Given the description of an element on the screen output the (x, y) to click on. 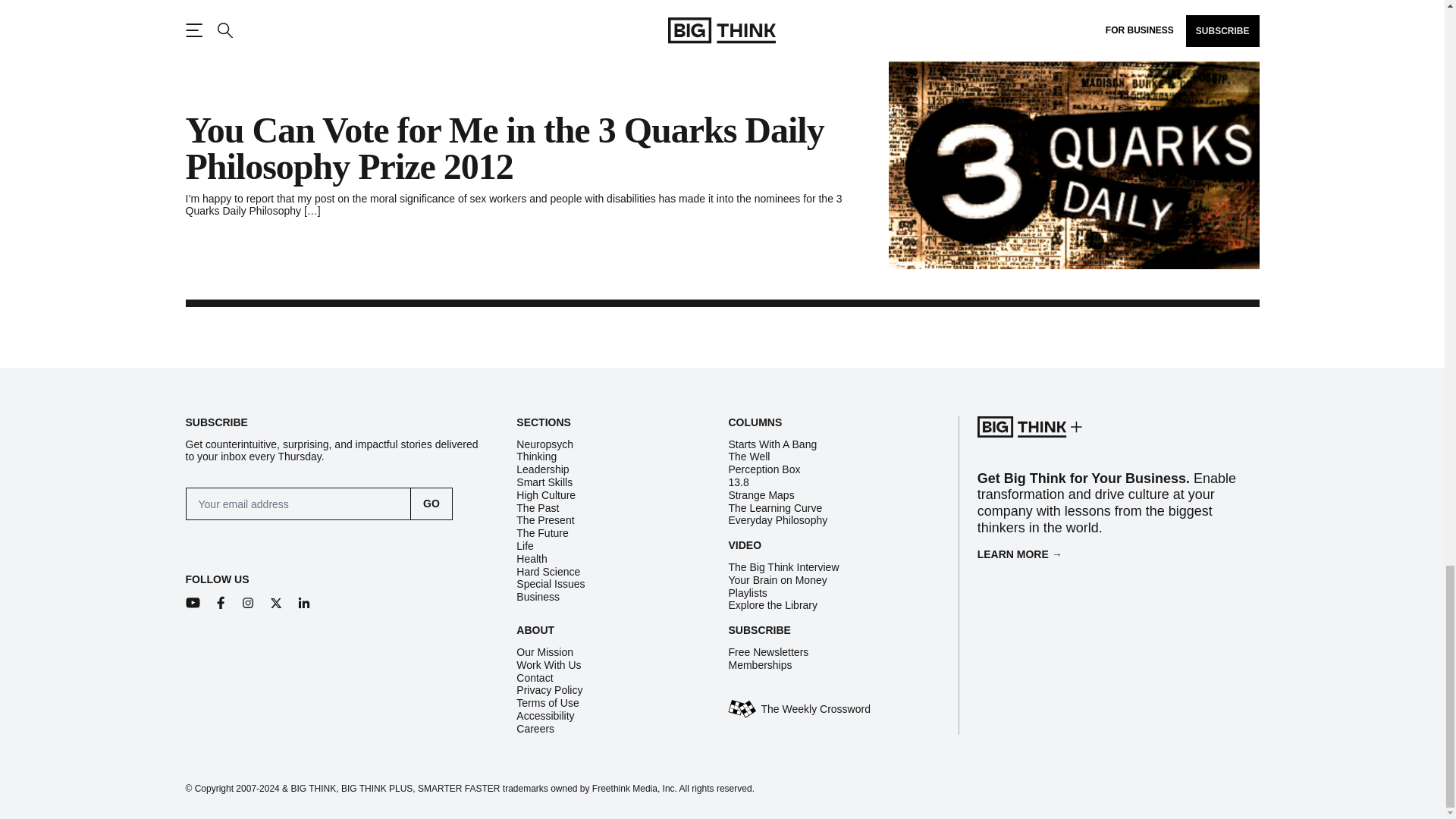
Go (431, 503)
